Given the description of an element on the screen output the (x, y) to click on. 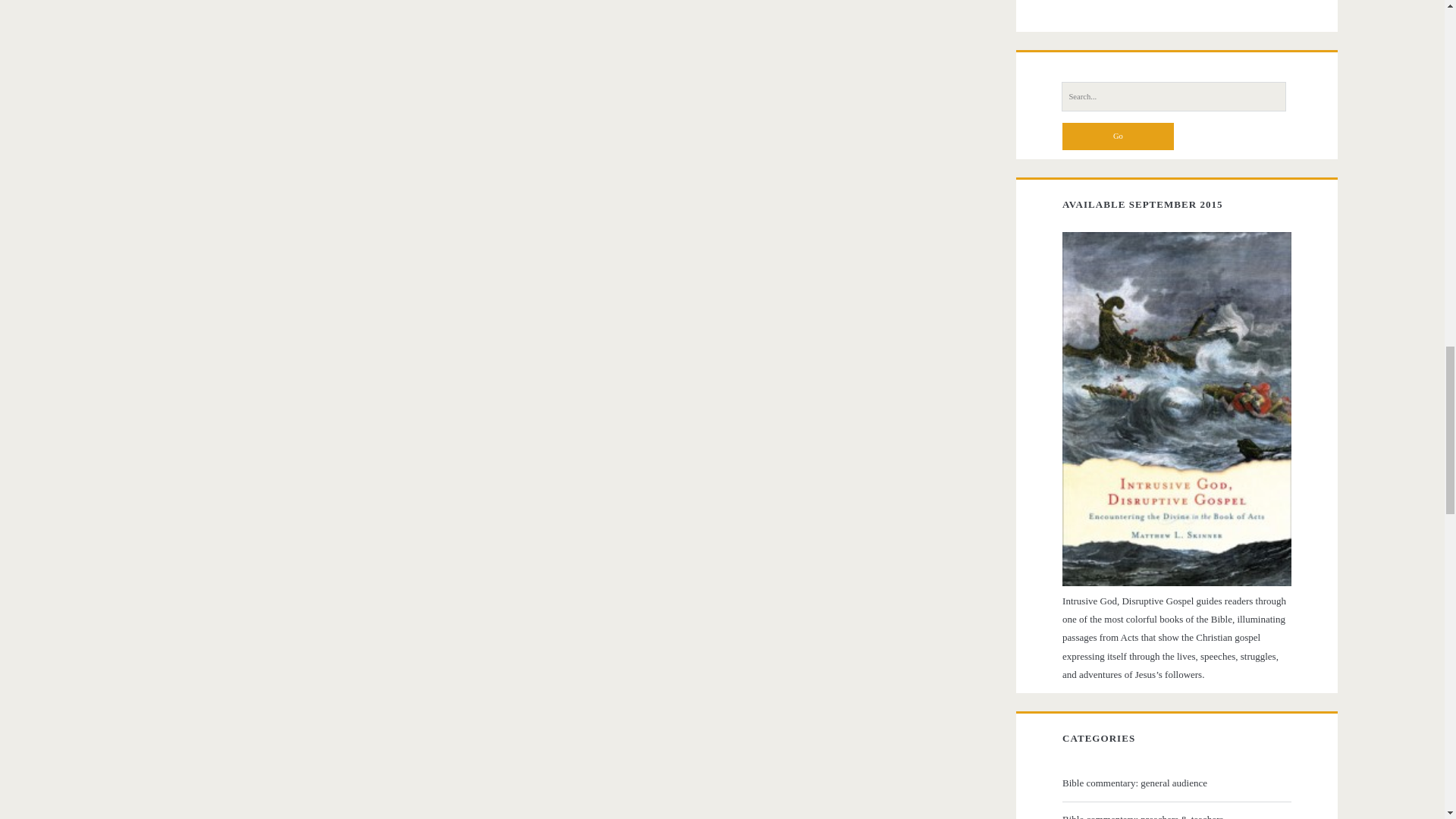
Search for: (1173, 95)
Bible commentary: general audience (1174, 782)
Go (1117, 135)
Go (1117, 135)
Go (1117, 135)
